Given the description of an element on the screen output the (x, y) to click on. 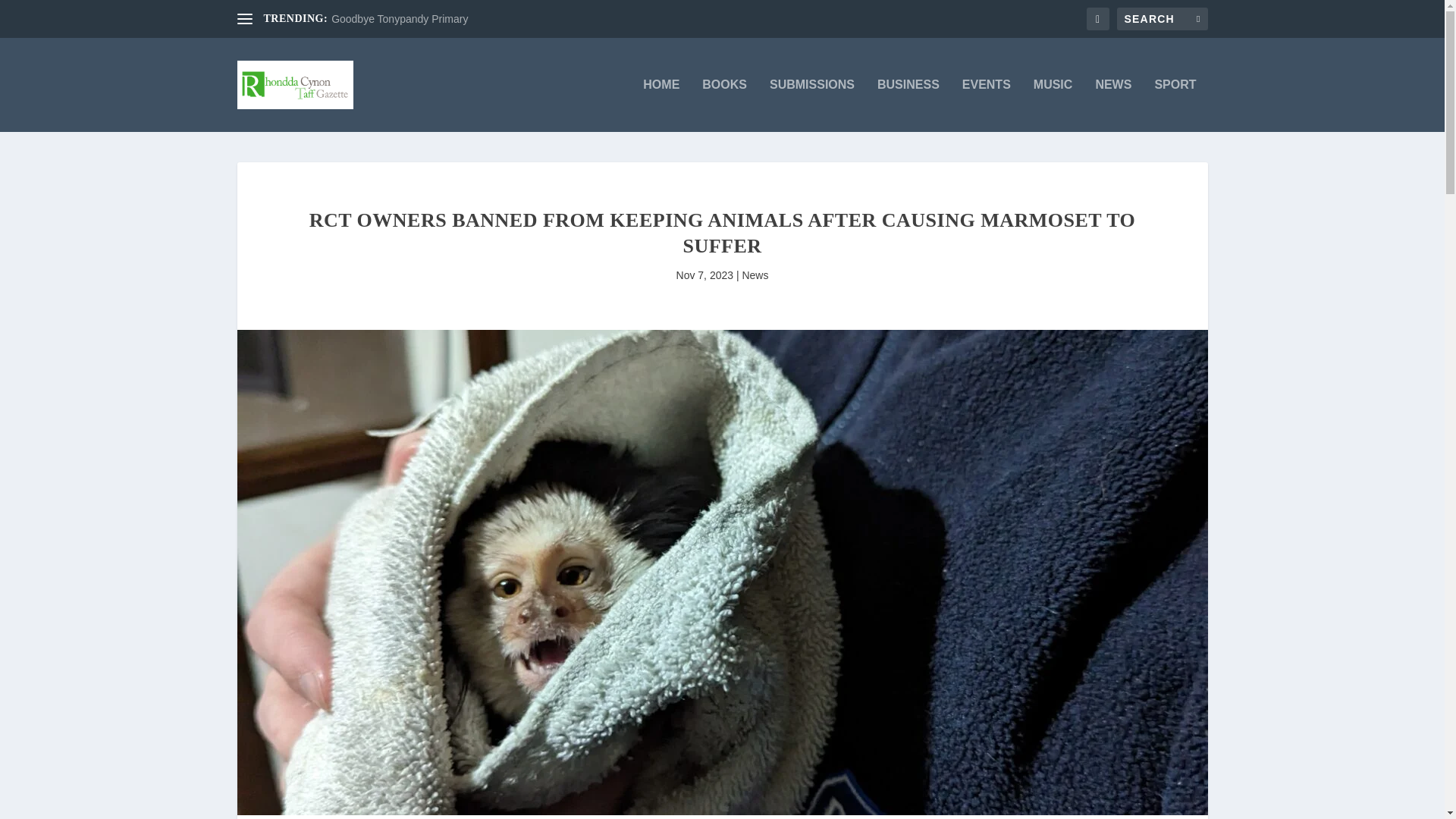
SUBMISSIONS (812, 104)
Search for: (1161, 18)
News (754, 275)
BUSINESS (908, 104)
EVENTS (986, 104)
Goodbye Tonypandy Primary (399, 19)
